Given the description of an element on the screen output the (x, y) to click on. 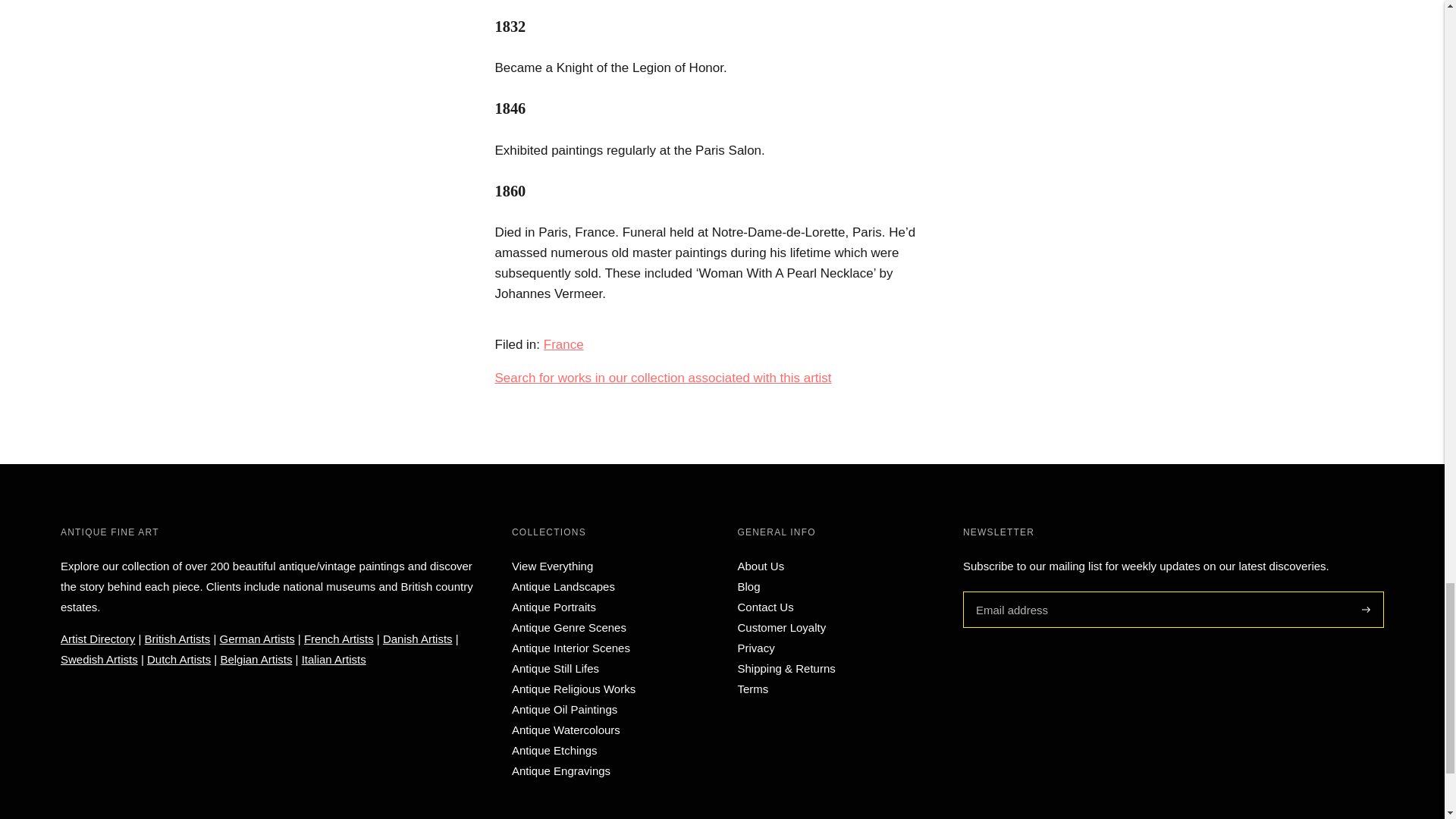
British Artists (177, 638)
Artist Directory (98, 638)
Italian Artists (333, 658)
Swedish Artists (99, 658)
Belgian Artists (255, 658)
Dutch Artists (179, 658)
French Artists (339, 638)
German Artists (257, 638)
Danish Artists (417, 638)
